Given the description of an element on the screen output the (x, y) to click on. 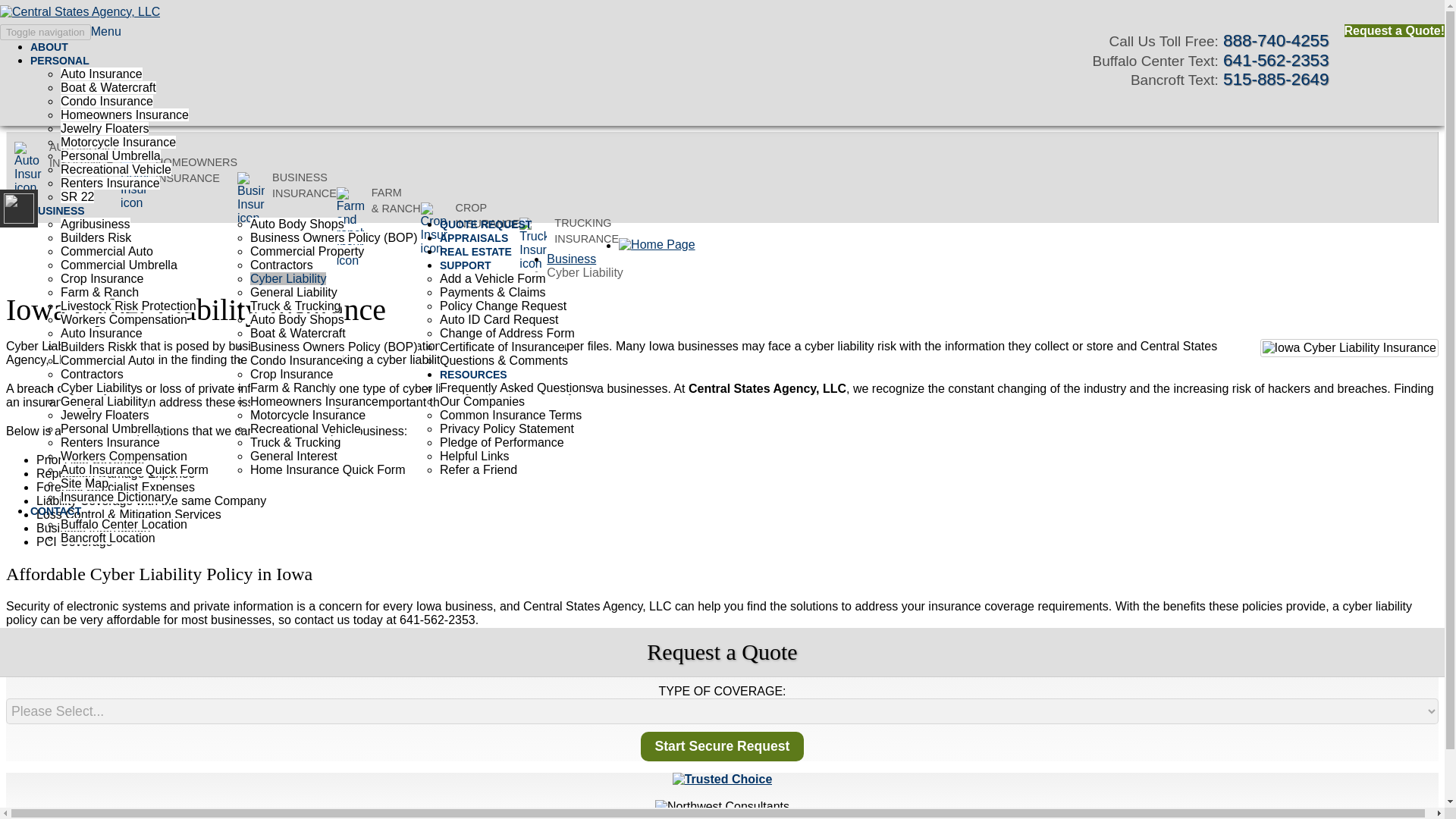
Commercial Auto (106, 250)
Menu (105, 31)
Contractors (281, 264)
Cyber Liability (288, 278)
Motorcycle Insurance (118, 141)
Commercial Property (307, 250)
Livestock Risk Protection (128, 305)
Crop Insurance (101, 278)
Jewelry Floaters (104, 128)
888-740-4255 (1275, 40)
